Given the description of an element on the screen output the (x, y) to click on. 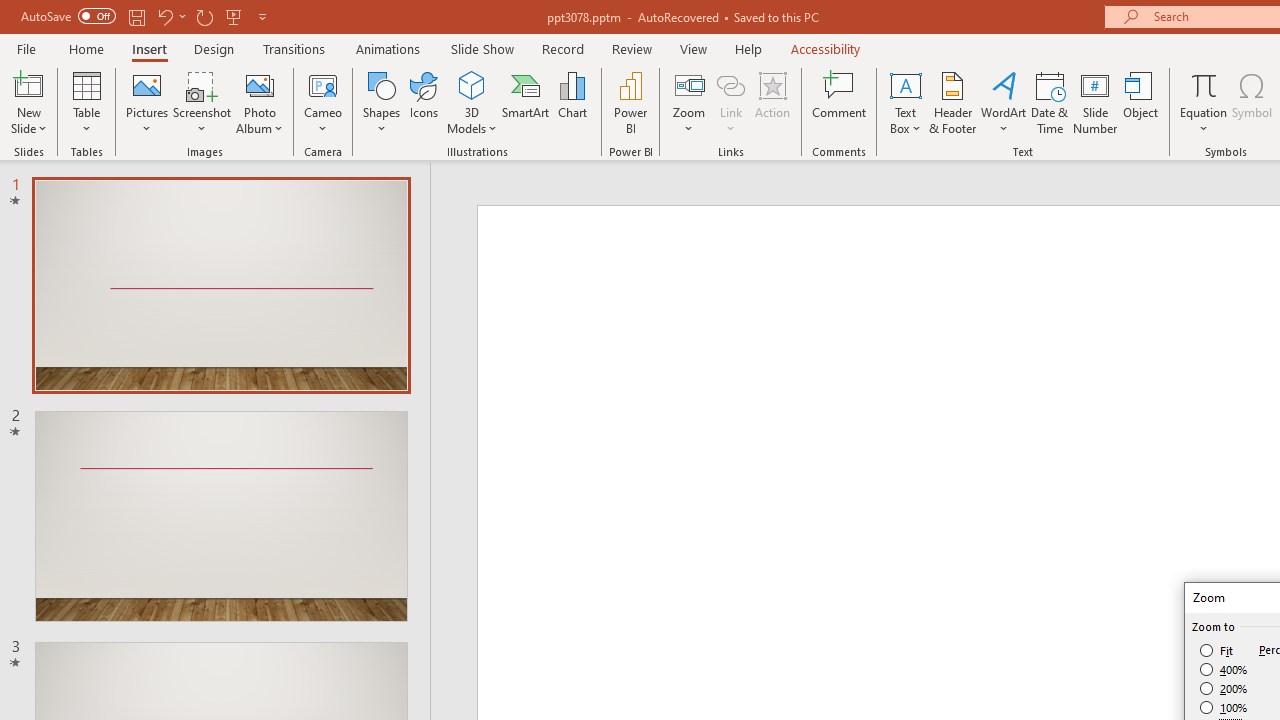
3D Models (472, 102)
3D Models (472, 84)
SmartArt... (525, 102)
Link (731, 84)
WordArt (1004, 102)
Fit (1217, 650)
Slide Number (1095, 102)
Object... (1141, 102)
